Given the description of an element on the screen output the (x, y) to click on. 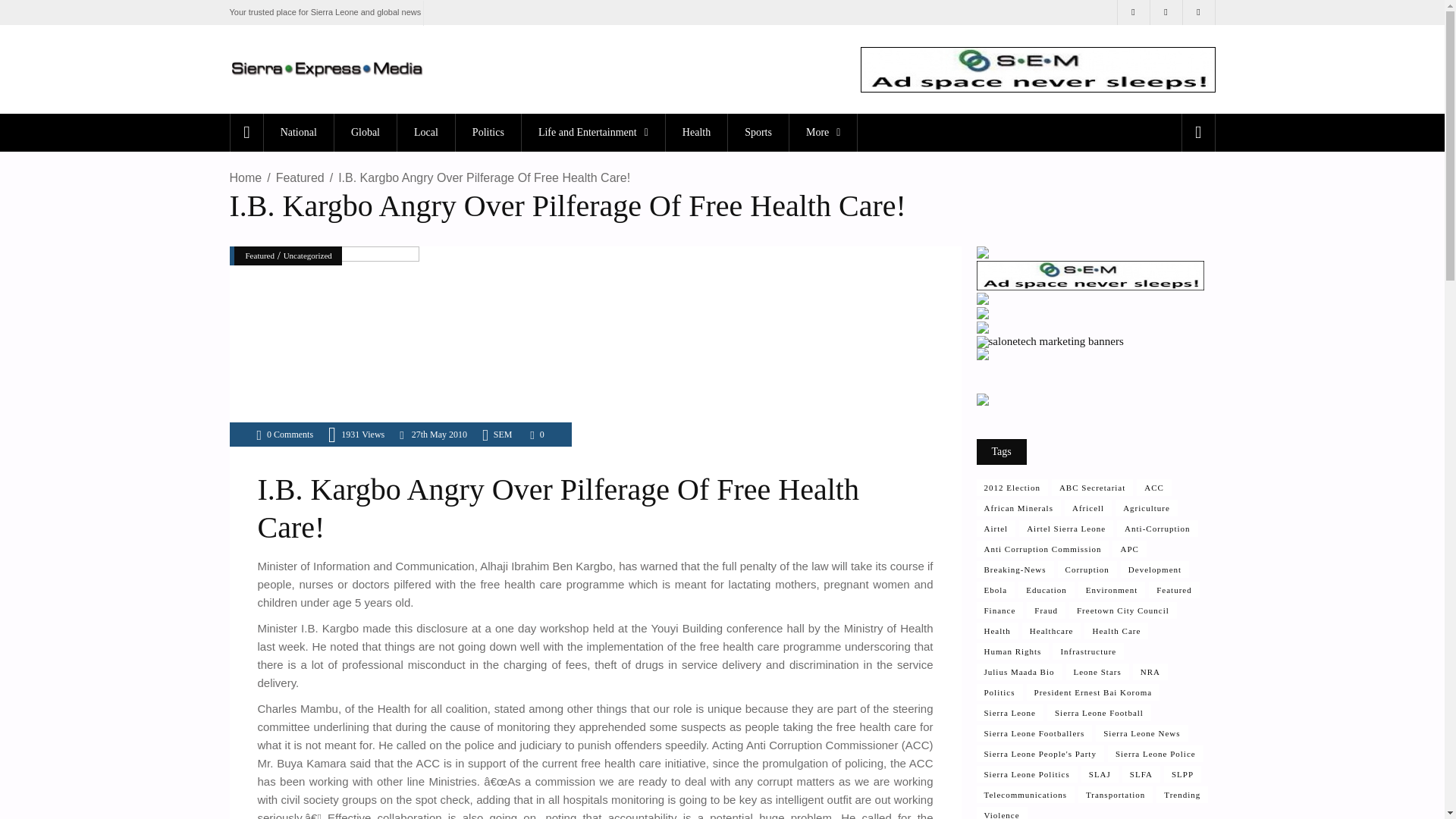
Local (425, 132)
Internet Programming Solutions - A SaloneTech Company (982, 300)
National (298, 132)
Life and Entertainment (593, 132)
Global (364, 132)
Politics (487, 132)
